Given the description of an element on the screen output the (x, y) to click on. 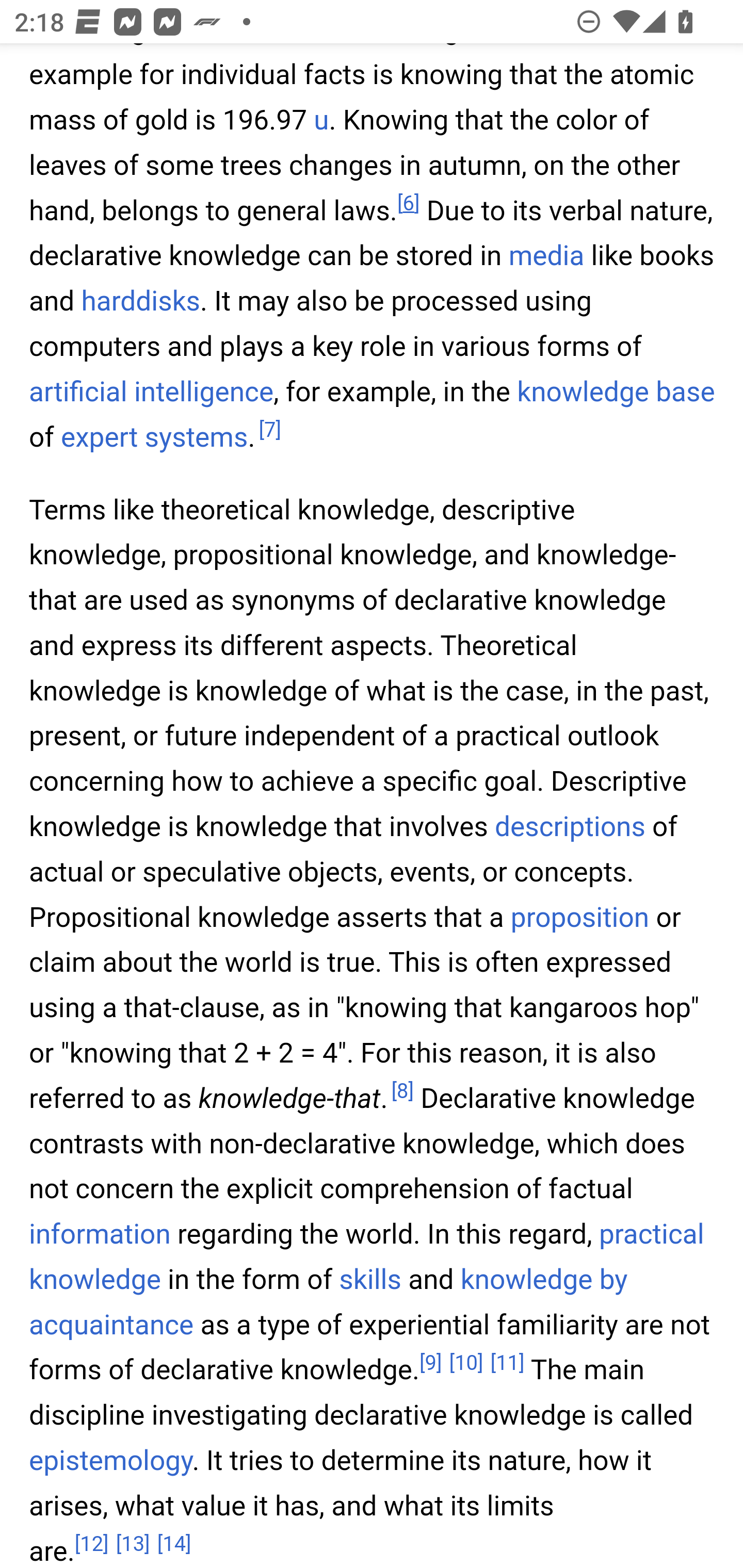
u (320, 121)
[] [ 6 ] (407, 204)
media (546, 256)
harddisks (140, 302)
artificial intelligence (151, 391)
knowledge base (616, 391)
[] [ 7 ] (269, 430)
expert systems (153, 437)
descriptions (570, 827)
proposition (579, 917)
[] [ 8 ] (402, 1091)
information (99, 1235)
practical knowledge (366, 1258)
knowledge by acquaintance (328, 1303)
skills (369, 1280)
[] [ 9 ] (430, 1363)
[] [ 10 ] (465, 1363)
[] [ 11 ] (506, 1363)
epistemology (110, 1461)
[] [ 12 ] (91, 1543)
[] [ 13 ] (133, 1543)
[] [ 14 ] (174, 1543)
